Given the description of an element on the screen output the (x, y) to click on. 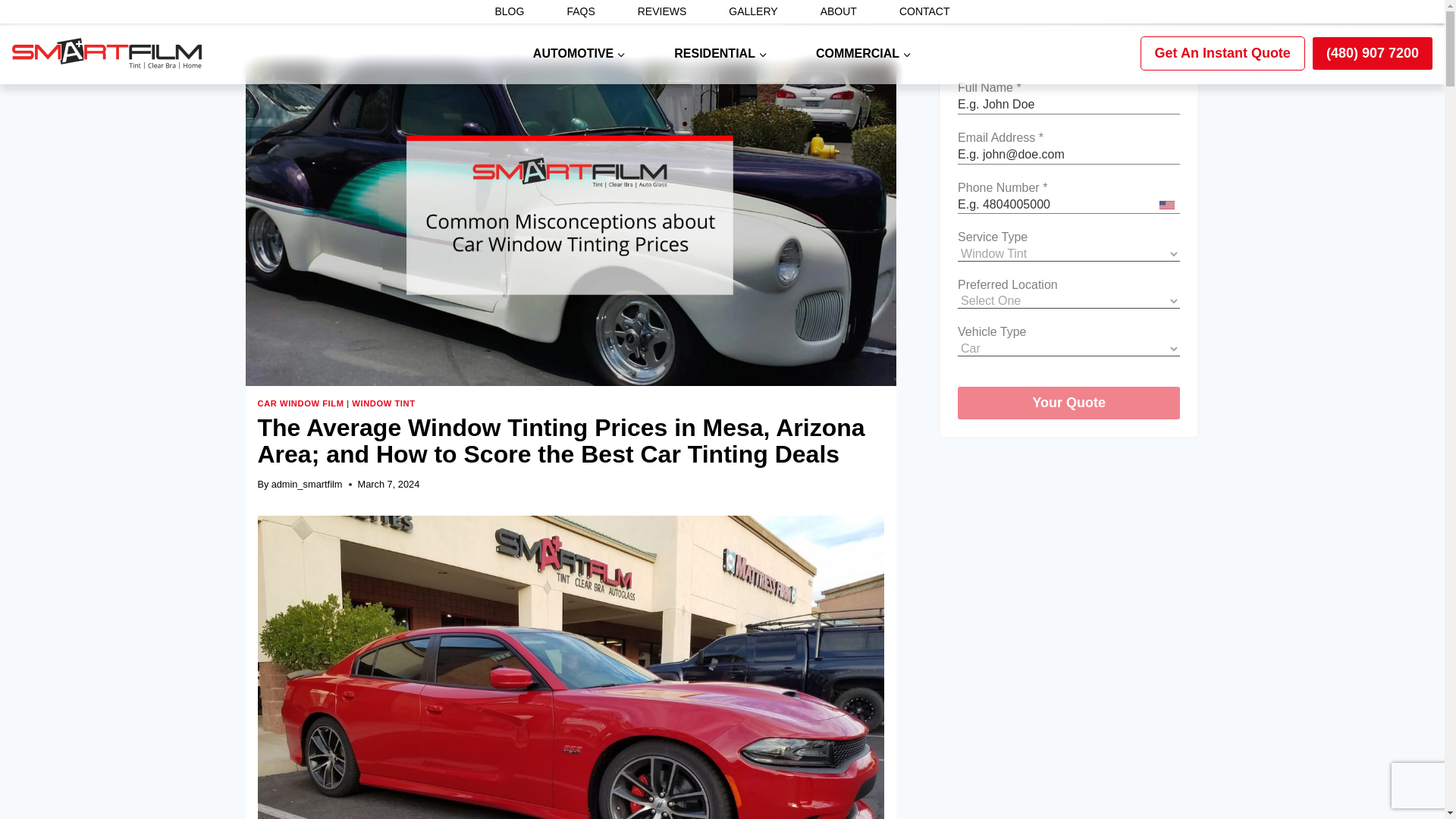
CONTACT (924, 11)
COMMERCIAL (864, 53)
ABOUT (838, 11)
AUTOMOTIVE (578, 53)
SmartFilm  automotive services in Mesa (578, 53)
CAR WINDOW FILM (300, 402)
BLOG (508, 11)
RESIDENTIAL (720, 53)
Get An Instant Quote (1222, 53)
WINDOW TINT (383, 402)
Residential Window Tinting (720, 53)
GALLERY (752, 11)
Commercial Window Tinting (864, 53)
REVIEWS (661, 11)
FAQS (579, 11)
